Given the description of an element on the screen output the (x, y) to click on. 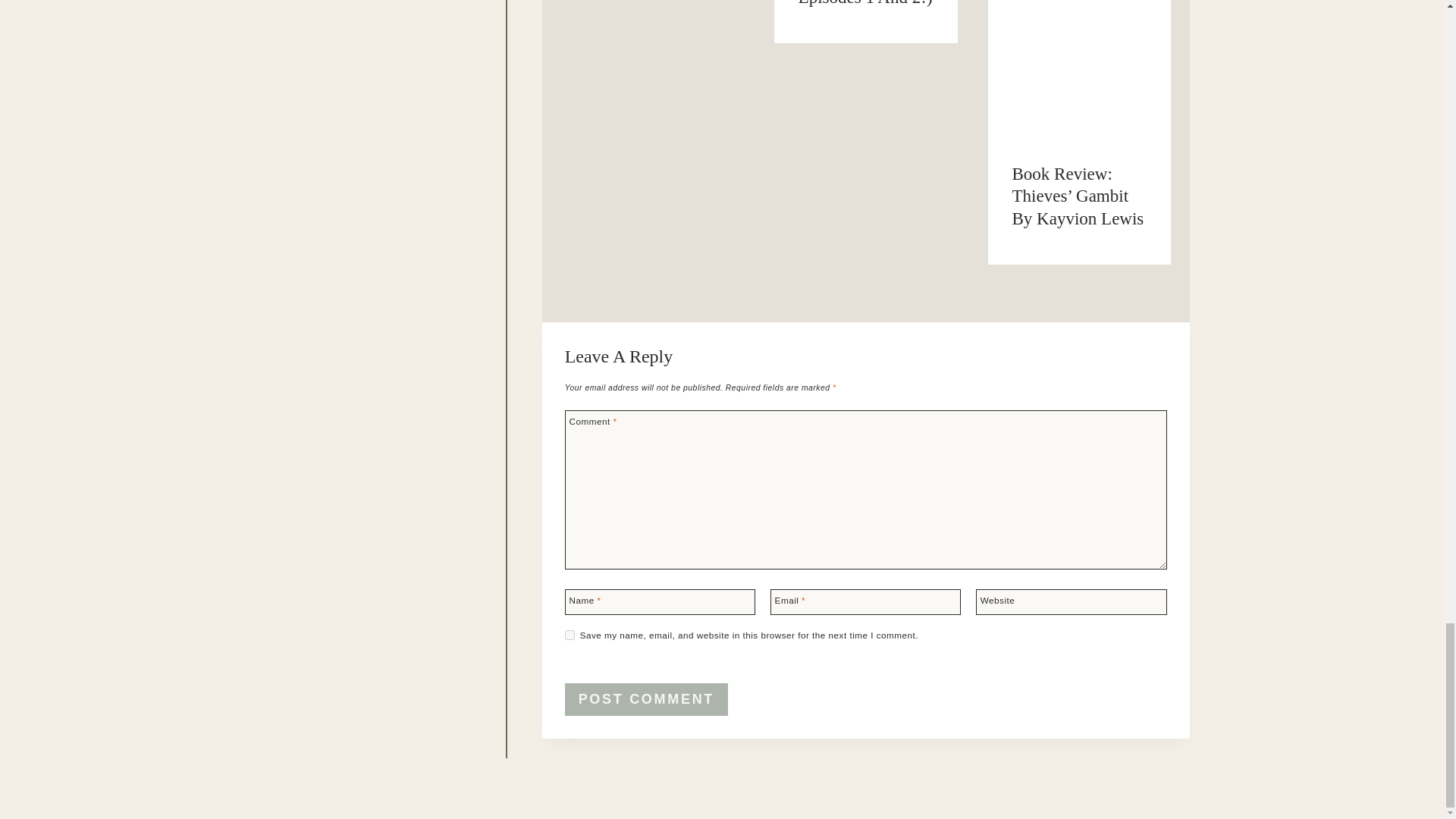
Post Comment (646, 699)
yes (569, 634)
